Given the description of an element on the screen output the (x, y) to click on. 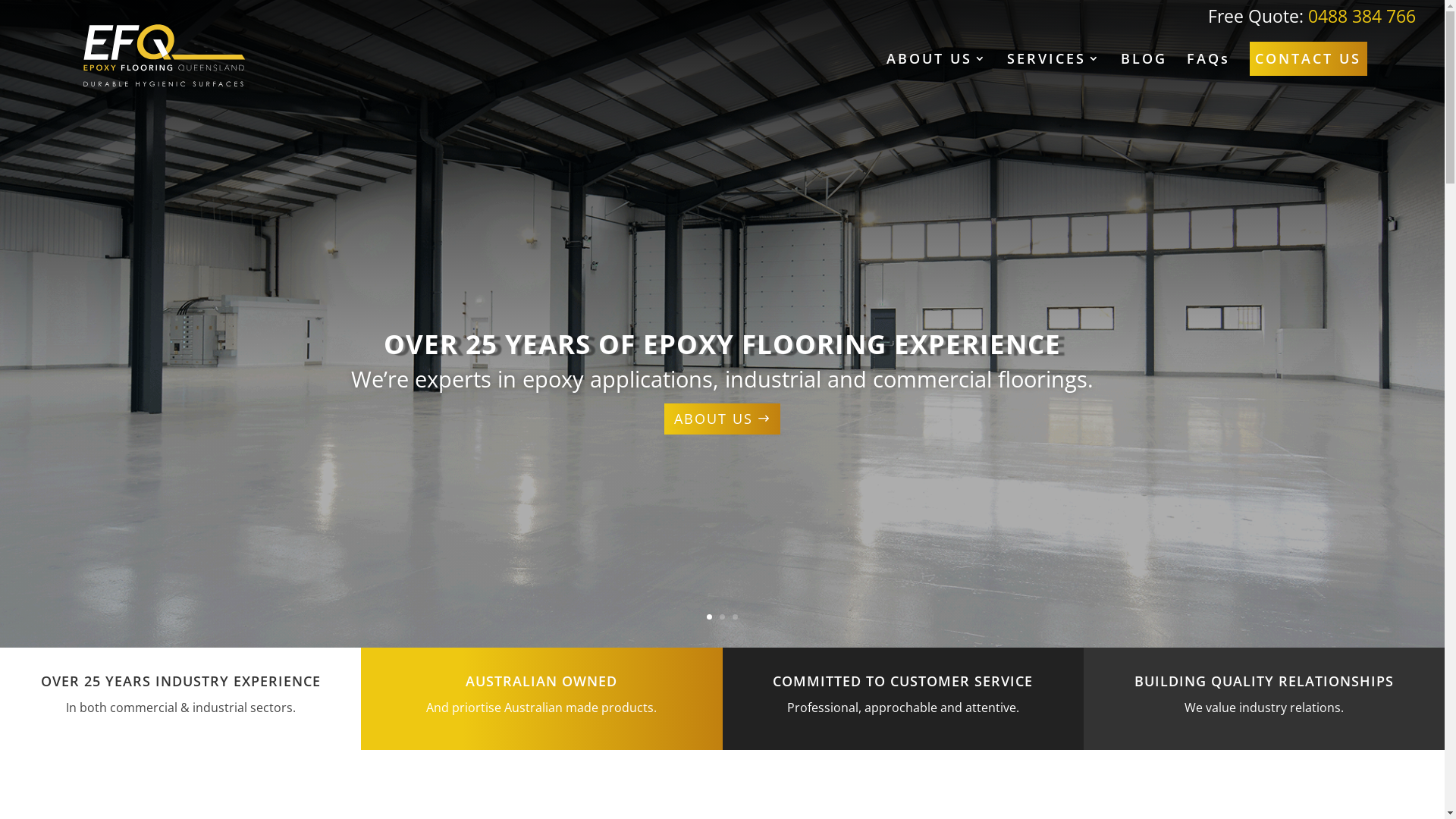
1 Element type: text (709, 616)
ABOUT US Element type: text (936, 79)
OVER 25 YEARS OF EPOXY FLOORING EXPERIENCE Element type: text (721, 343)
CONTACT US Element type: text (1307, 58)
SERVICES Element type: text (1054, 79)
2 Element type: text (721, 616)
BLOG Element type: text (1143, 79)
0488 384 766 Element type: text (1361, 15)
3 Element type: text (734, 616)
FAQs Element type: text (1208, 79)
ABOUT US Element type: text (722, 418)
